Given the description of an element on the screen output the (x, y) to click on. 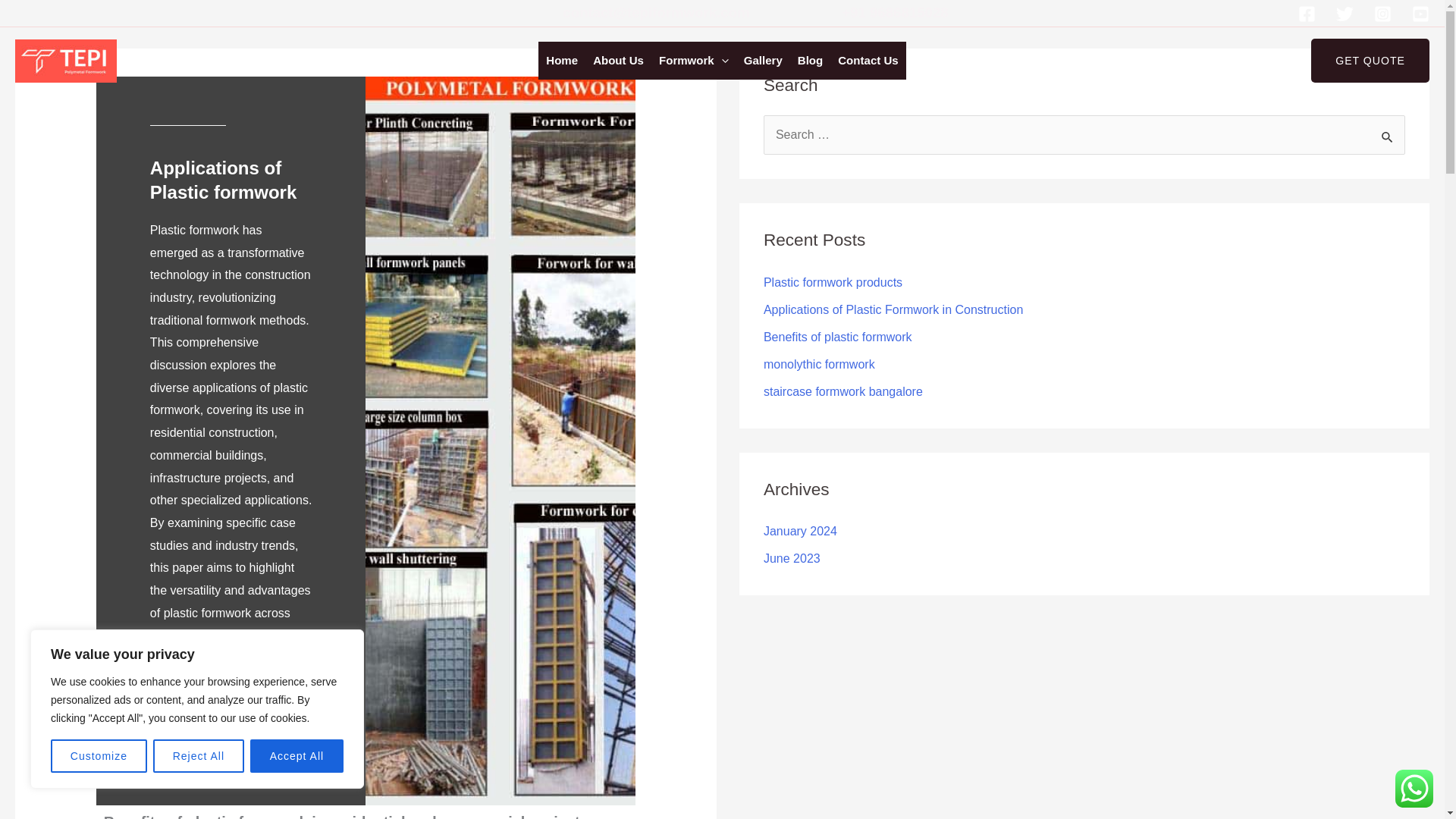
GET QUOTE (1370, 60)
Home (561, 60)
About Us (617, 60)
Gallery (763, 60)
Blog (809, 60)
Contact Us (867, 60)
Formwork (693, 60)
Accept All (296, 756)
Customize (98, 756)
Reject All (198, 756)
